Given the description of an element on the screen output the (x, y) to click on. 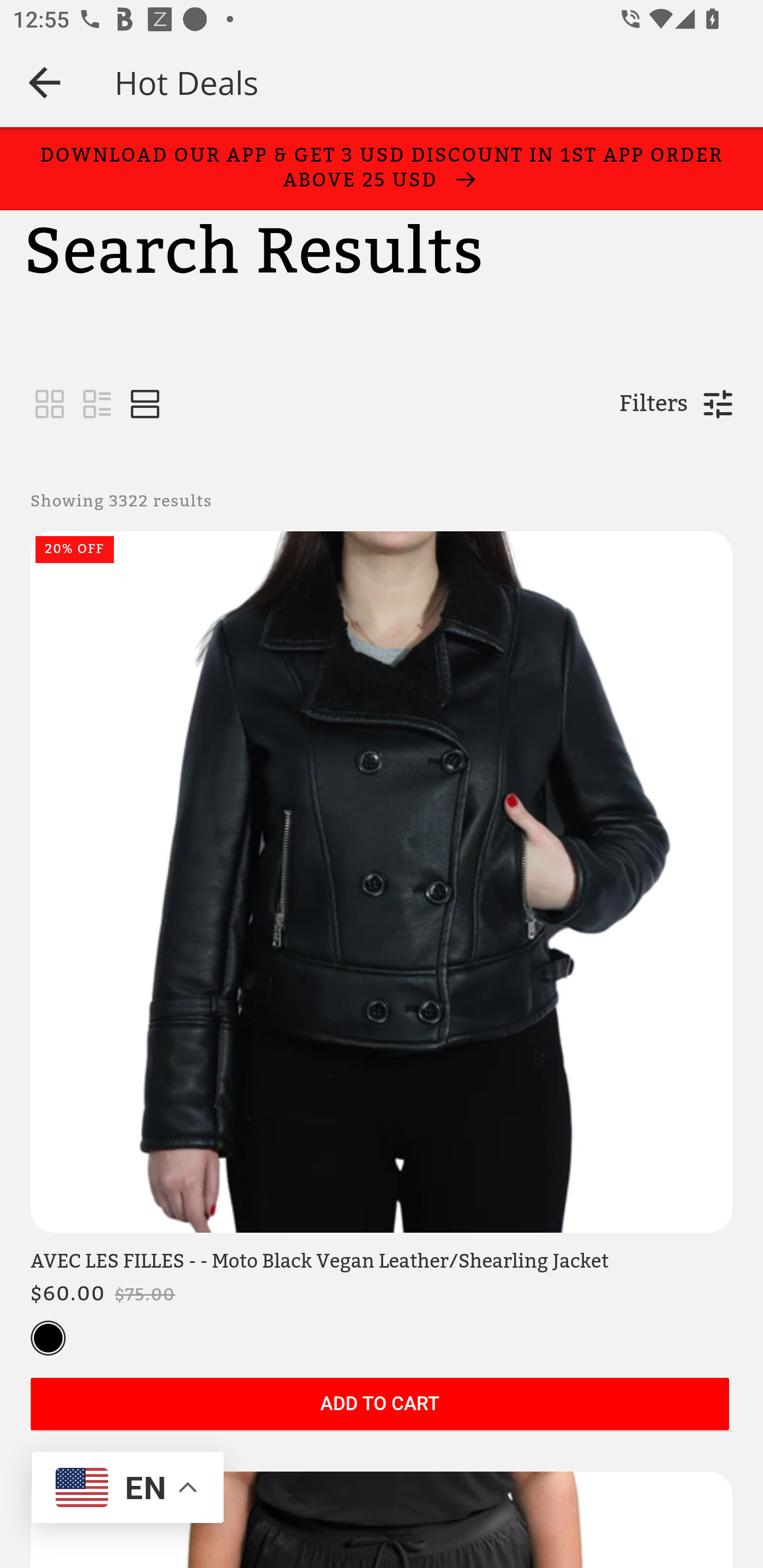
Navigate up (44, 82)
Filters (653, 404)
search-results-page?collection=sale# (50, 404)
search-results-page?collection=sale# (97, 404)
search-results-page?collection=sale# (145, 404)
Black (48, 1338)
ADD TO CART (379, 1404)
